Given the description of an element on the screen output the (x, y) to click on. 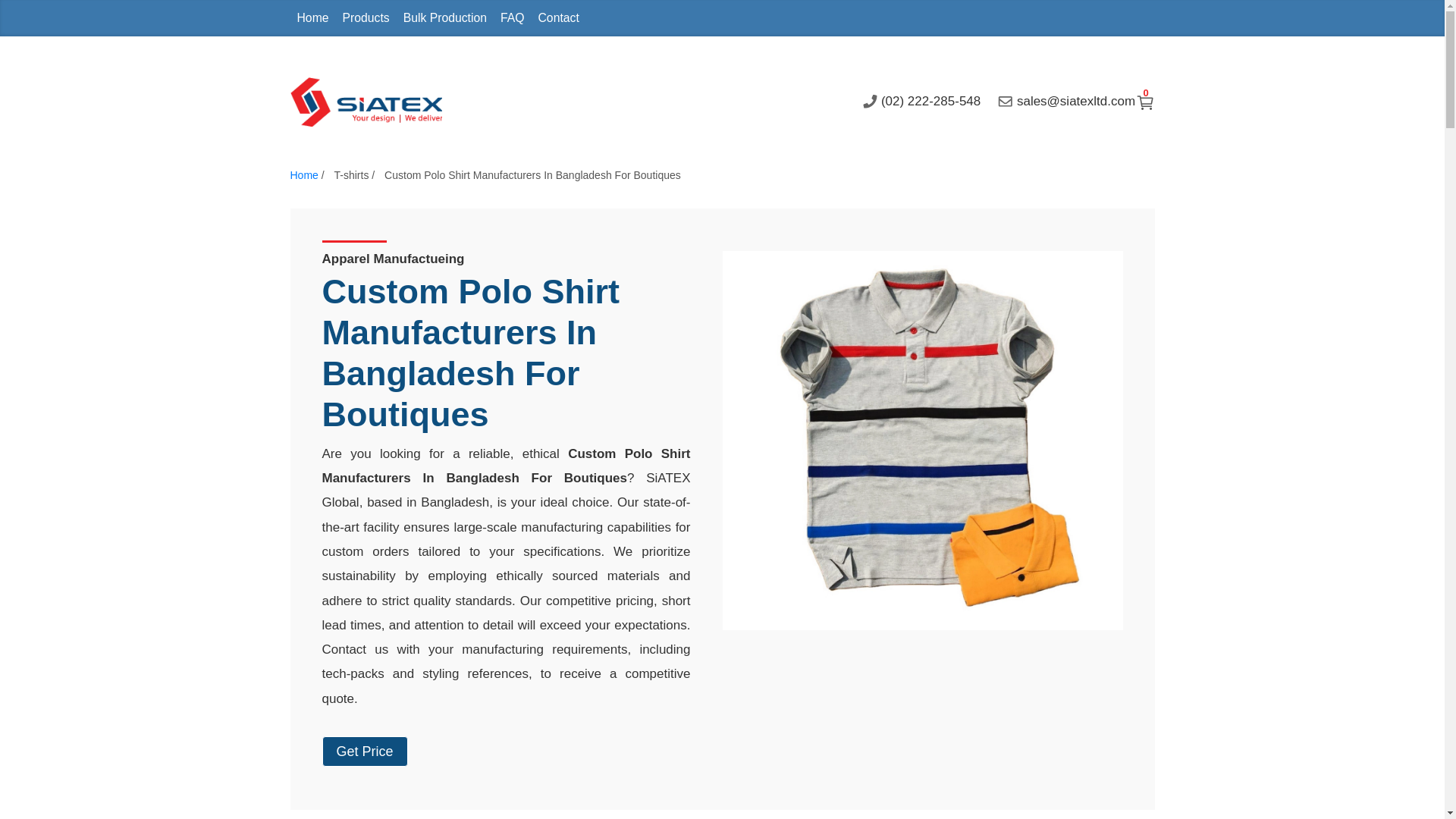
Home (311, 18)
Home (311, 18)
Products (722, 18)
Products (366, 18)
Cart (366, 18)
